Given the description of an element on the screen output the (x, y) to click on. 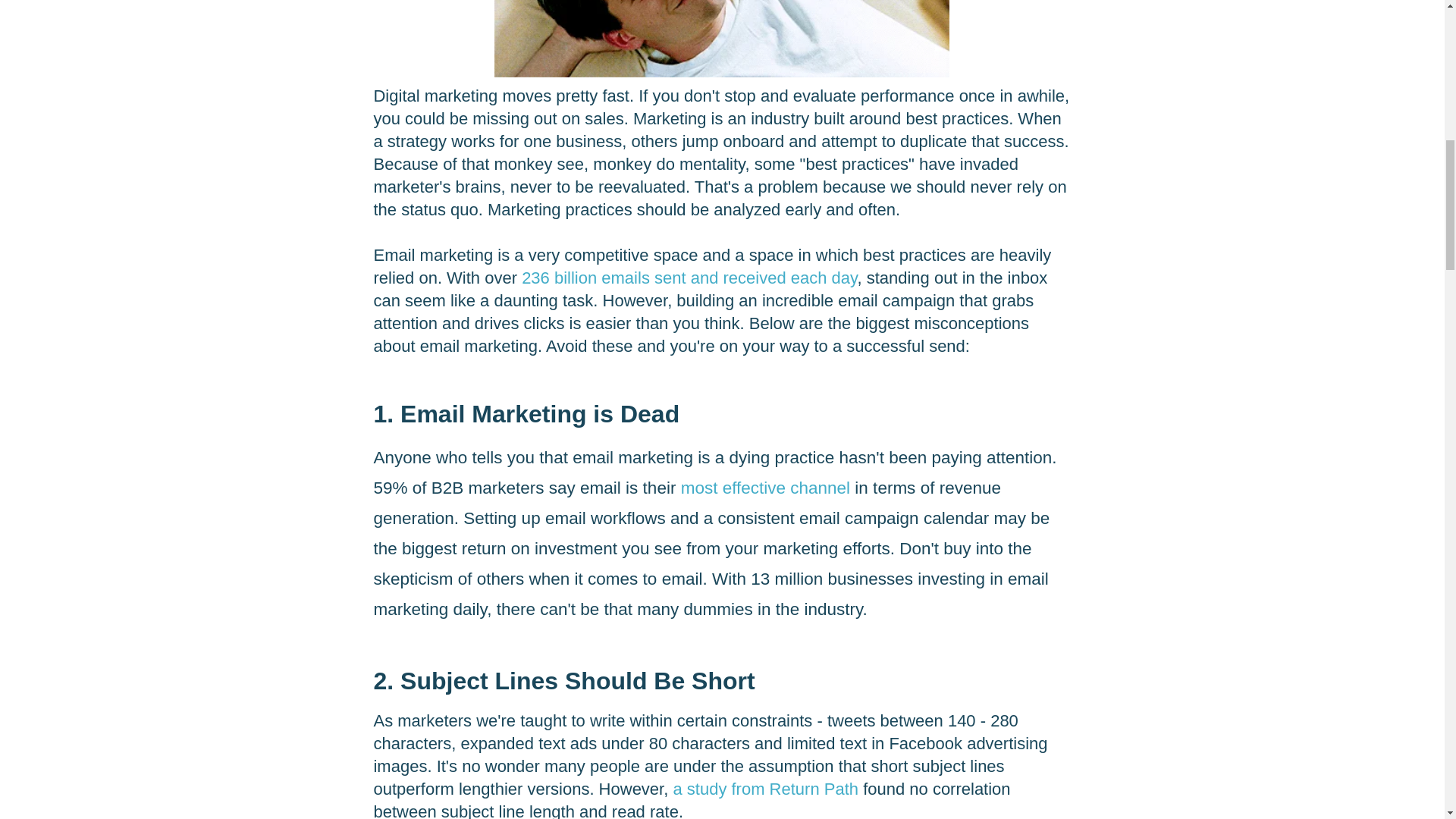
236 billion emails sent and received each day (689, 277)
most effective channel (765, 487)
a study from Return Path (765, 788)
